Given the description of an element on the screen output the (x, y) to click on. 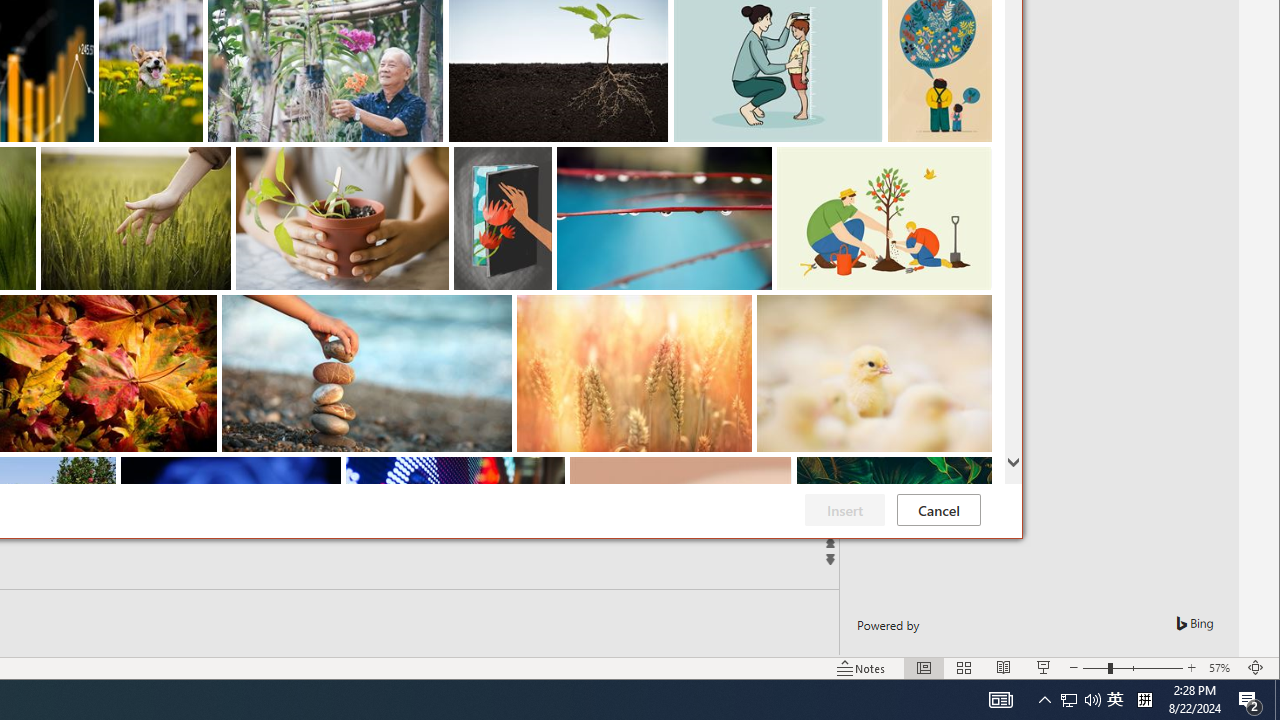
Zoom to Fit  (1256, 668)
Zoom Out (1095, 668)
Notes  (861, 668)
Reading View (1004, 668)
AutomationID: 4105 (1069, 699)
Normal (1000, 699)
Tray Input Indicator - Chinese (Simplified, China) (923, 668)
User Promoted Notification Area (1144, 699)
Q2790: 100% (1080, 699)
